Given the description of an element on the screen output the (x, y) to click on. 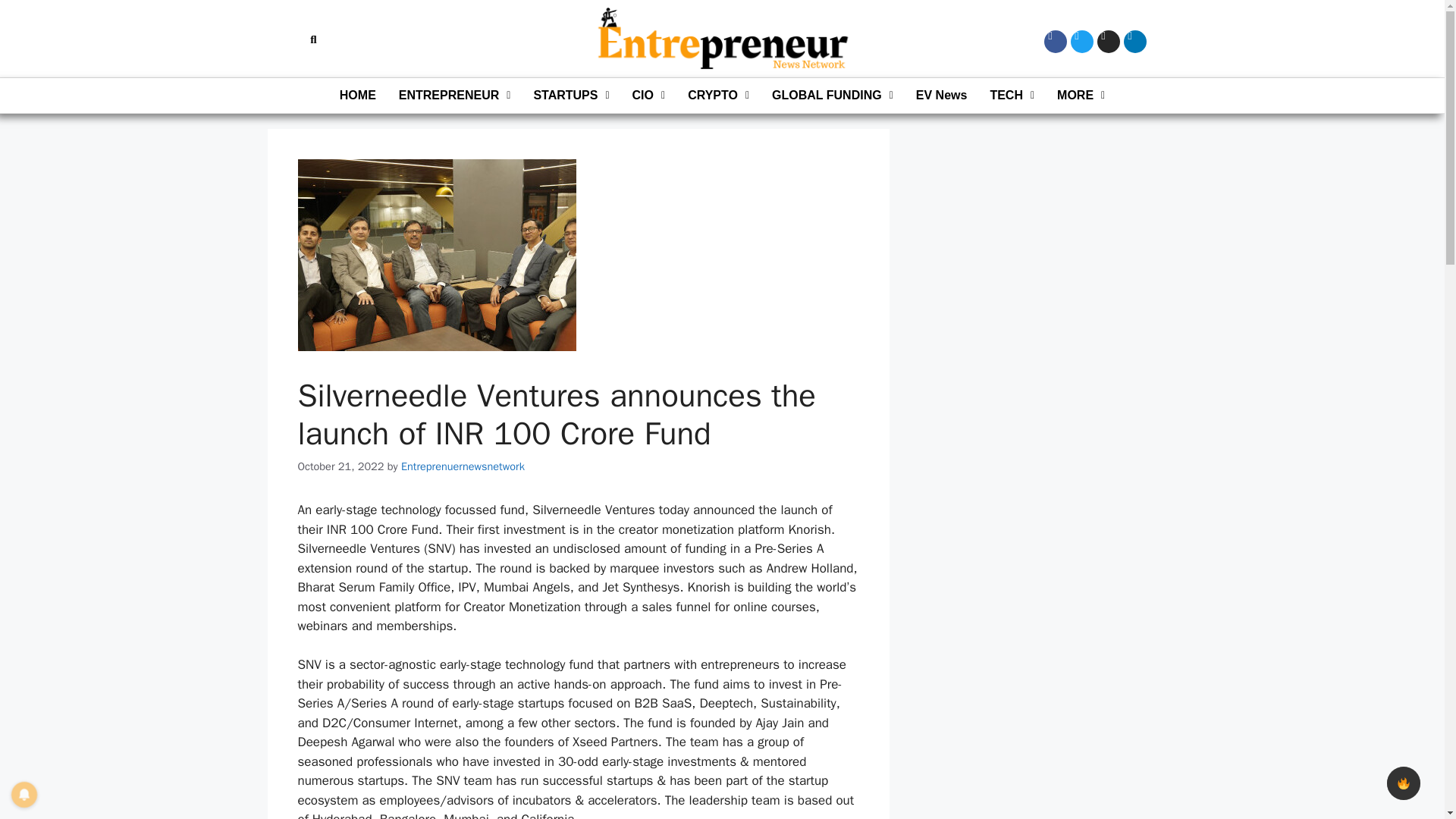
GLOBAL FUNDING (832, 95)
HOME (358, 95)
EV News (941, 95)
CRYPTO (718, 95)
TECH (1011, 95)
ENTREPRENEUR (454, 95)
Search (308, 38)
STARTUPS (570, 95)
View all posts by Entreprenuernewsnetwork (462, 466)
CIO (649, 95)
MORE (1080, 95)
